Given the description of an element on the screen output the (x, y) to click on. 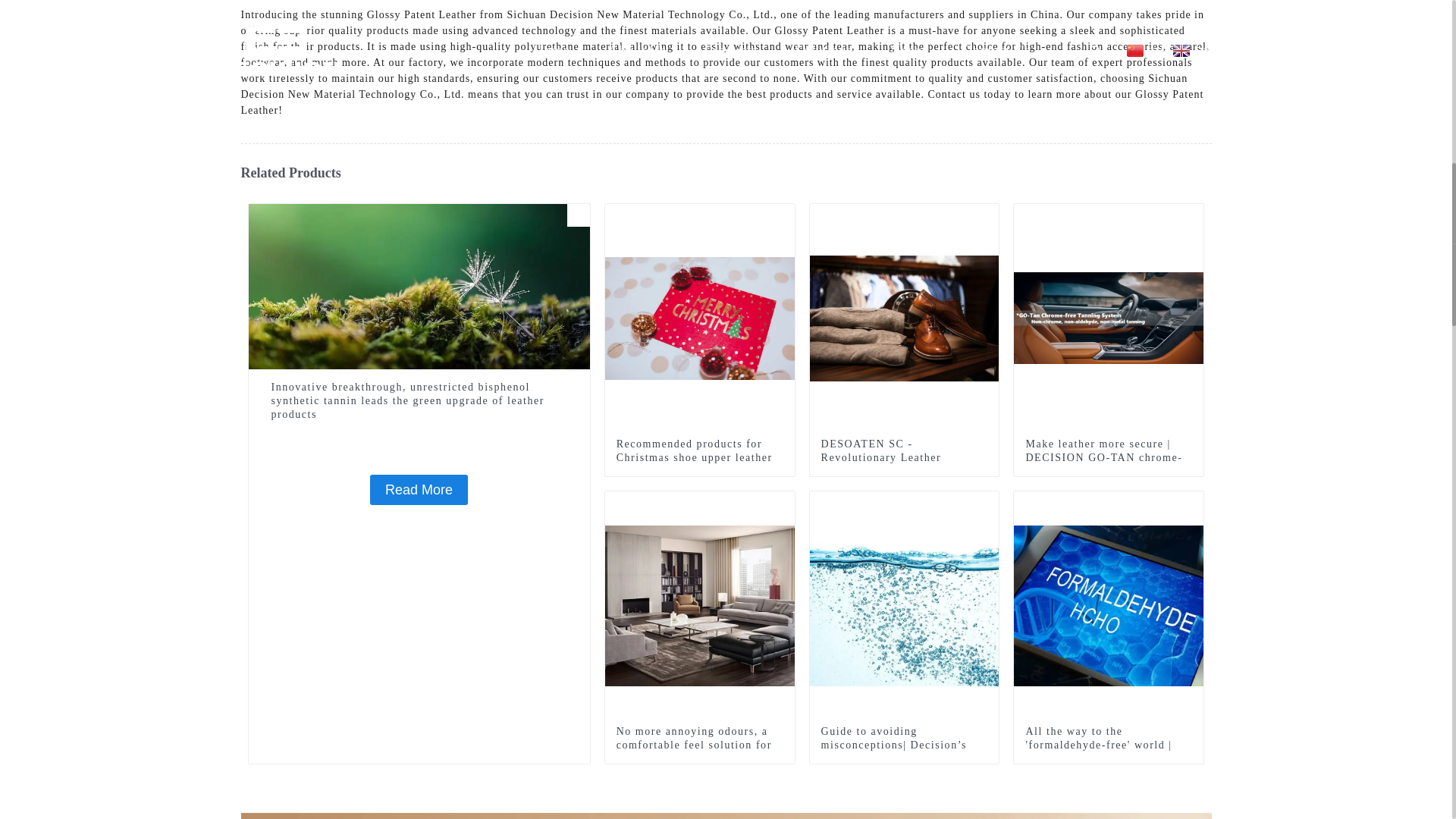
product-display9-1 (782, 502)
retanning1 (782, 214)
Read More (418, 490)
Innovative1 (578, 214)
pro-2 (986, 502)
